Given the description of an element on the screen output the (x, y) to click on. 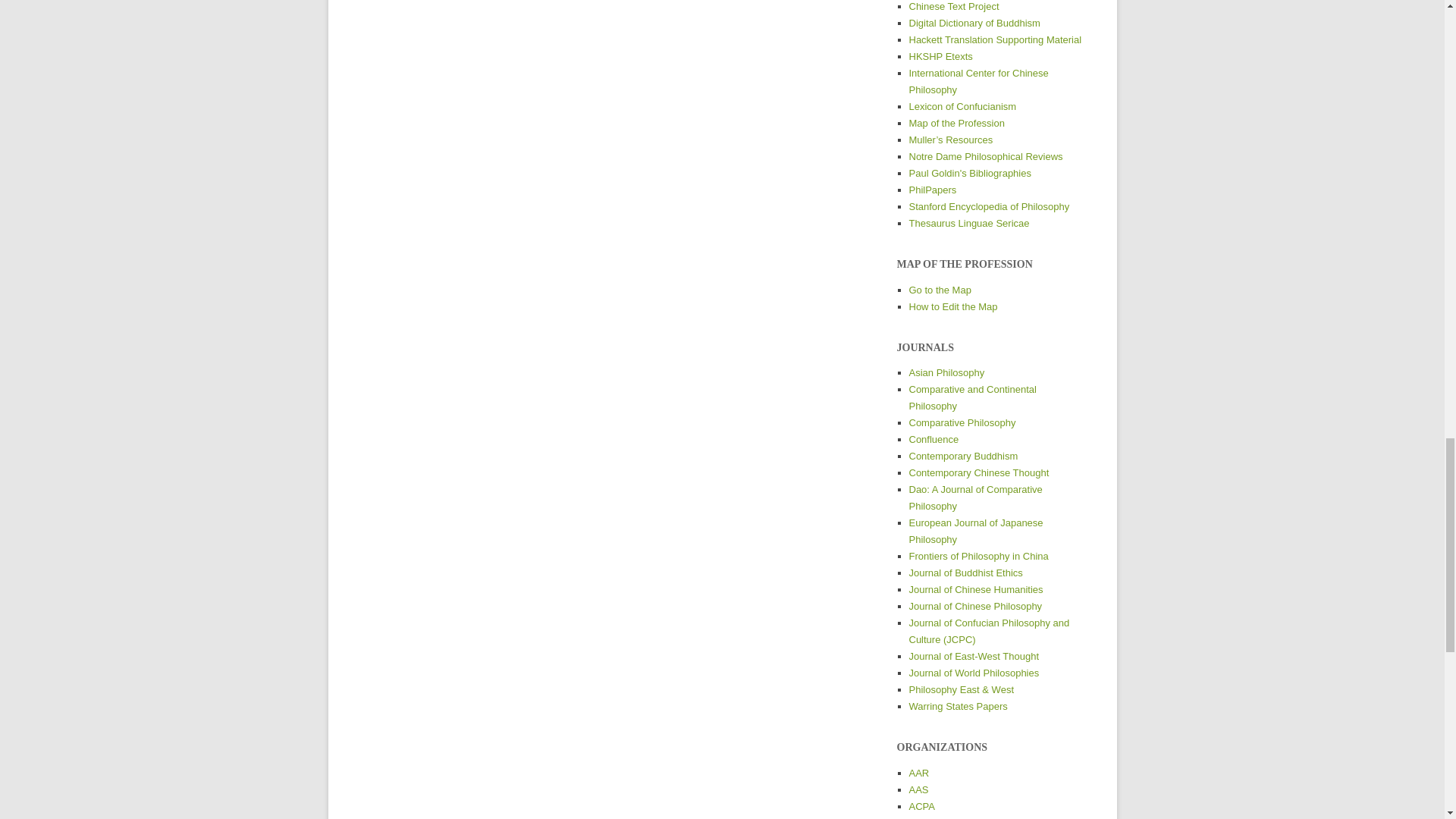
American Academy of Religion (918, 772)
Chinese Philosophy: Map of the Profession (956, 122)
Contemporary Chinese scholarship in English (975, 589)
